Given the description of an element on the screen output the (x, y) to click on. 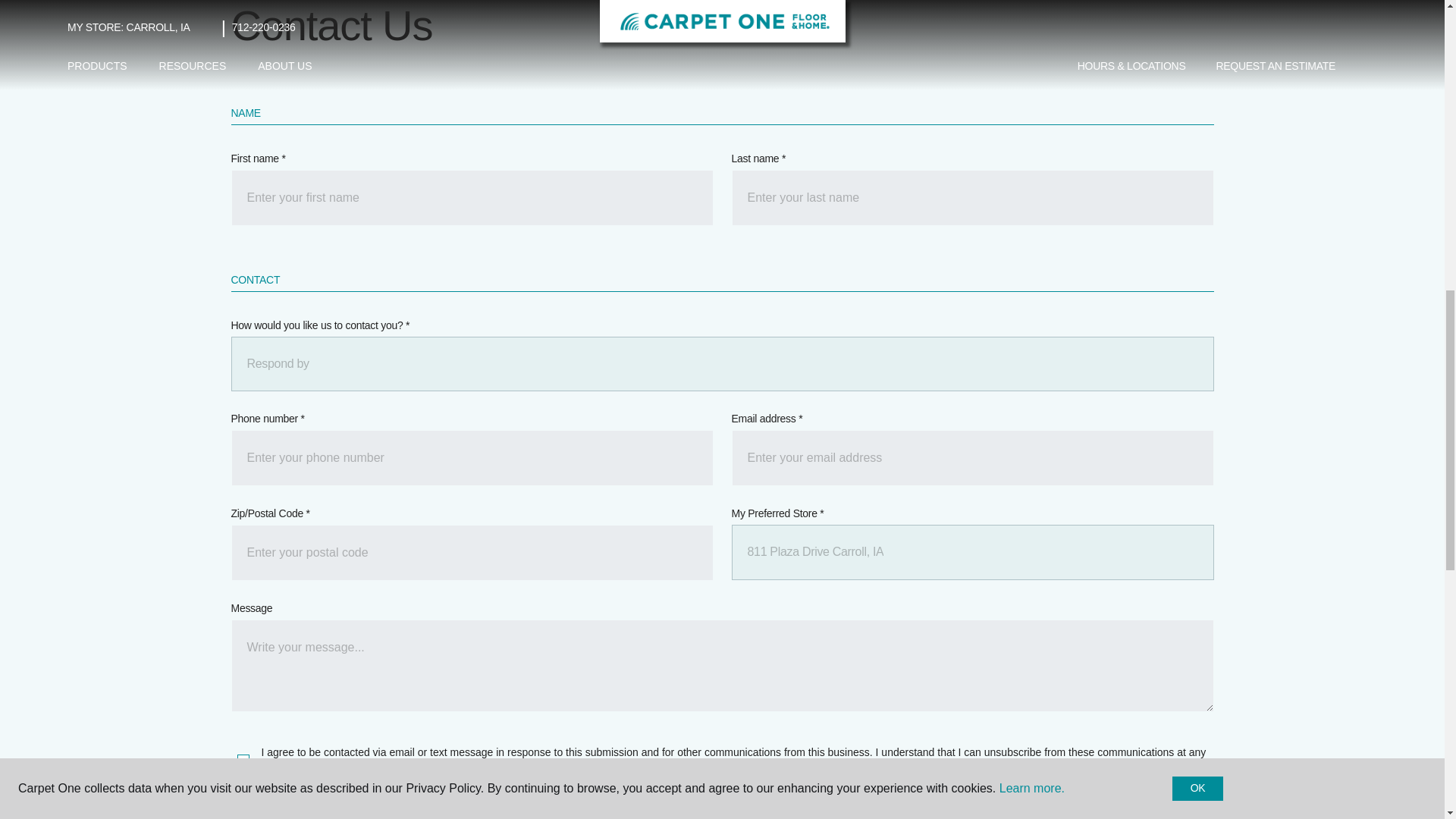
CleanHomePhone (471, 457)
LastName (971, 197)
EmailAddress (971, 457)
PostalCode (471, 552)
FirstName (471, 197)
MyMessage (721, 665)
